Given the description of an element on the screen output the (x, y) to click on. 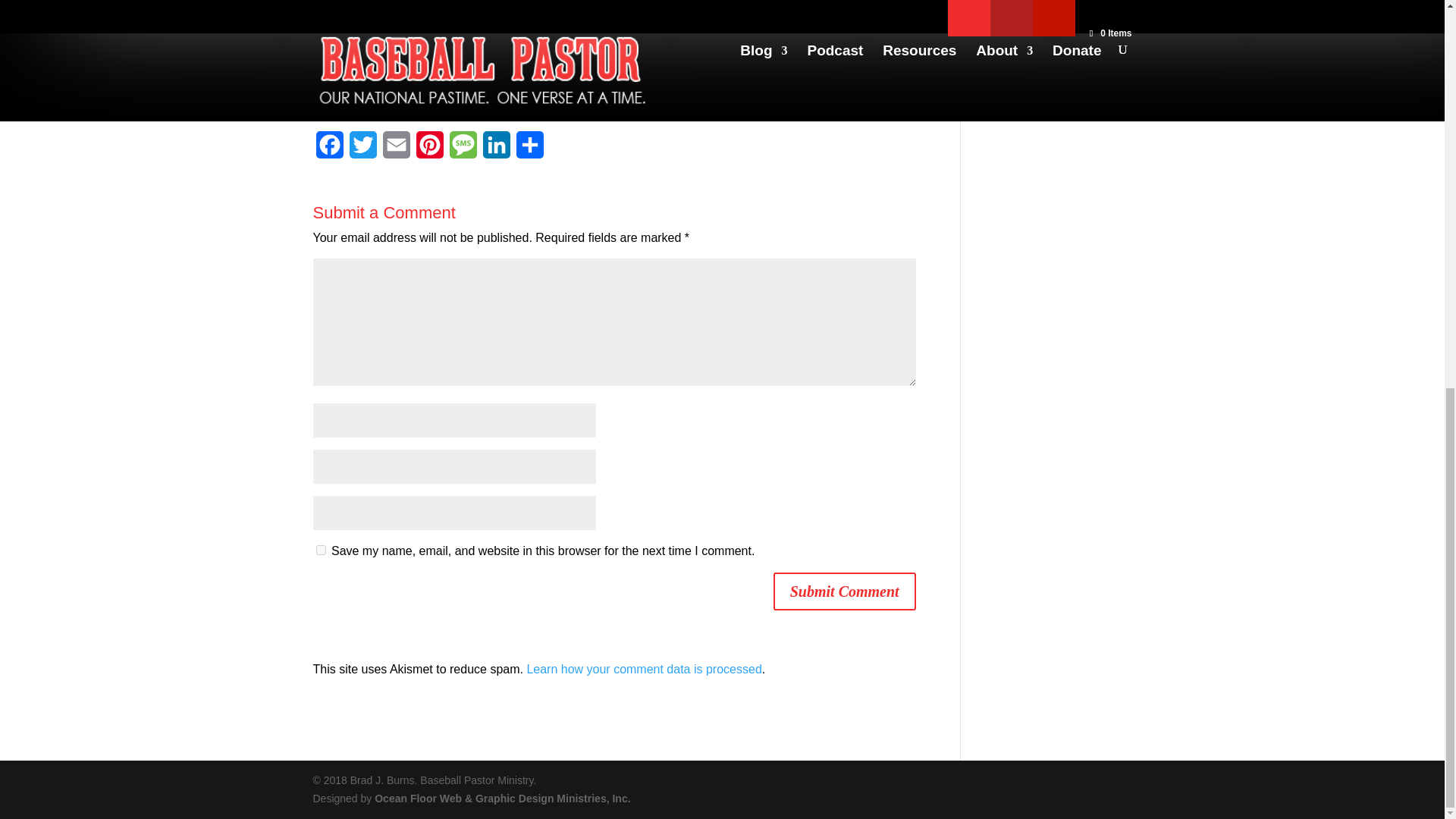
Message (462, 149)
Pinterest (428, 149)
LinkedIn (495, 149)
yes (319, 550)
Submit Comment (844, 591)
Email (395, 149)
Twitter (362, 149)
Facebook (329, 149)
